Given the description of an element on the screen output the (x, y) to click on. 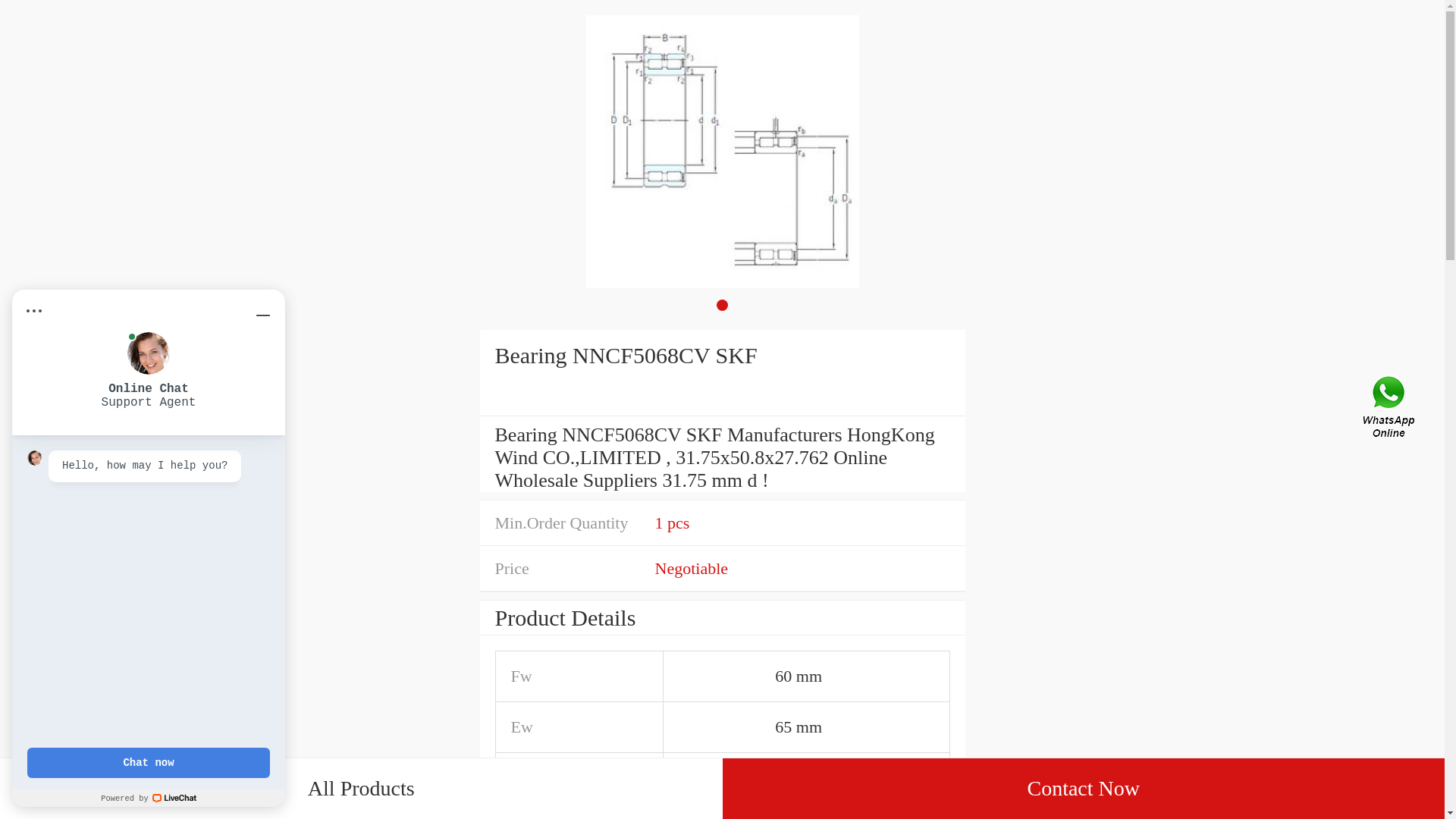
Contact Us Element type: hover (1389, 409)
